Given the description of an element on the screen output the (x, y) to click on. 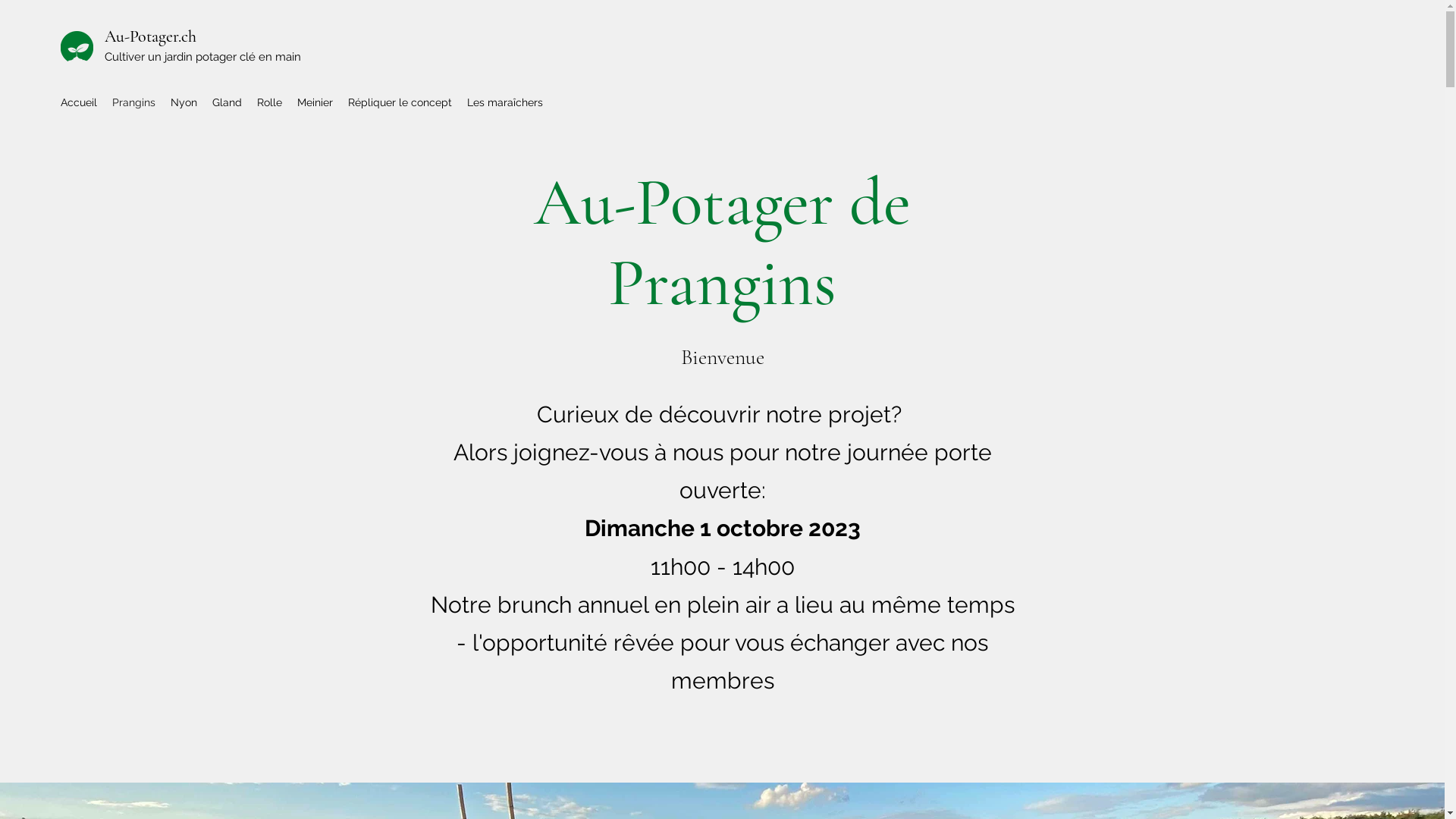
Au-Potager.ch Element type: text (150, 36)
Accueil Element type: text (78, 102)
Meinier Element type: text (314, 102)
Nyon Element type: text (183, 102)
Rolle Element type: text (269, 102)
Gland Element type: text (226, 102)
Prangins Element type: text (133, 102)
